Given the description of an element on the screen output the (x, y) to click on. 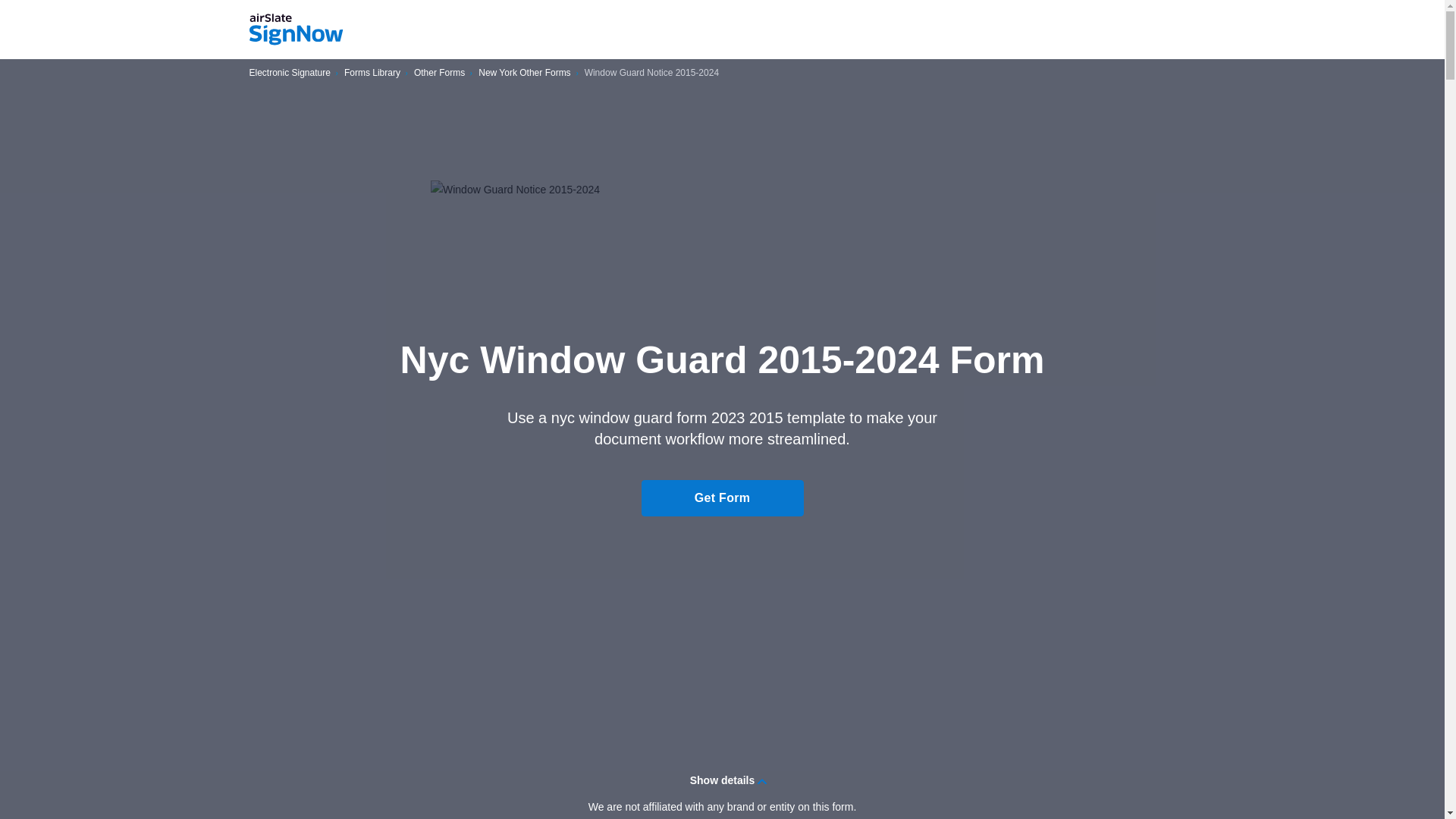
Show details (722, 780)
Get Form (722, 497)
Other Forms (438, 73)
New York Other Forms (524, 73)
Electronic Signature (289, 73)
Forms Library (371, 73)
signNow (295, 29)
